Given the description of an element on the screen output the (x, y) to click on. 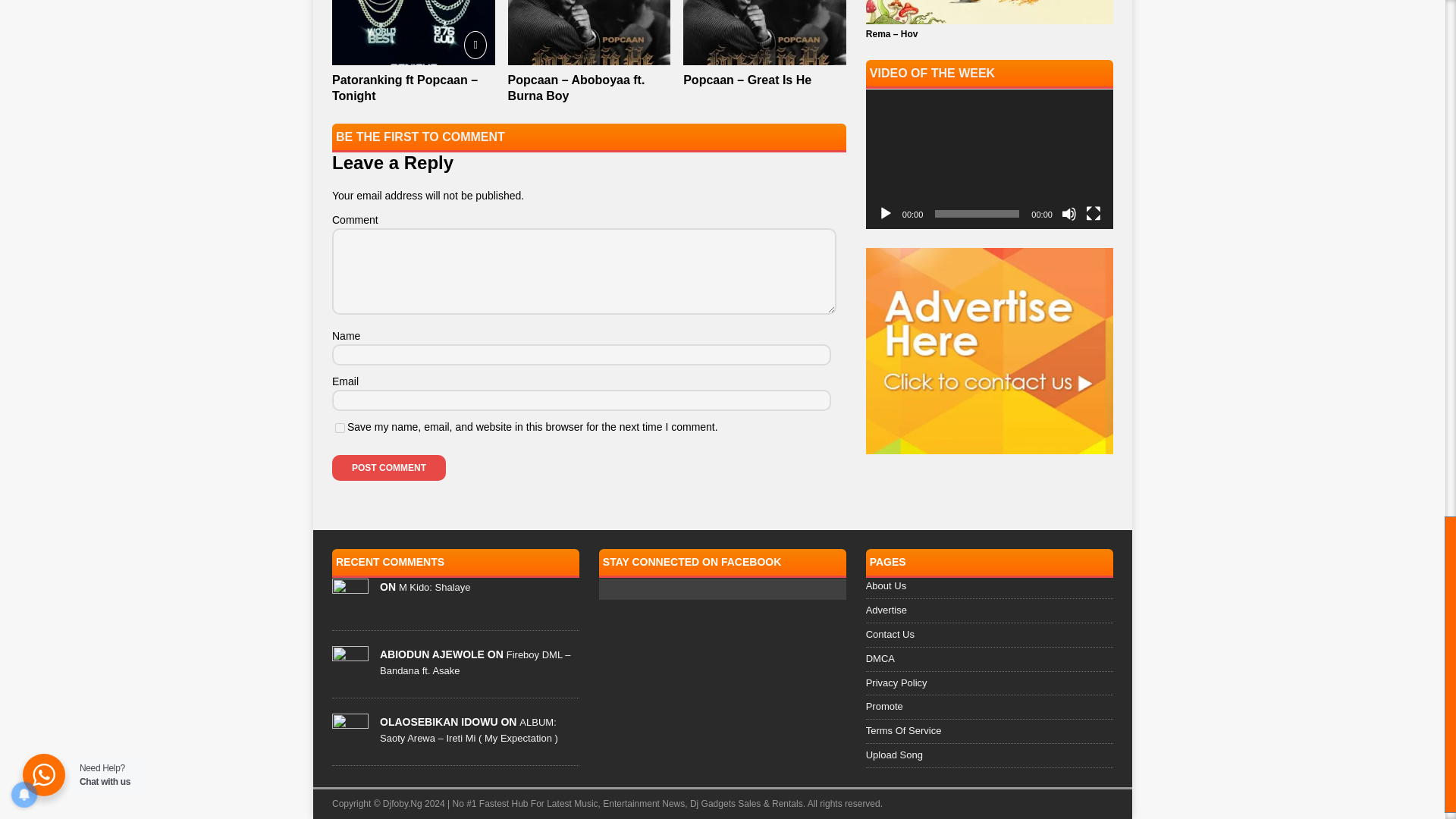
Post Comment (388, 467)
yes (339, 428)
